Given the description of an element on the screen output the (x, y) to click on. 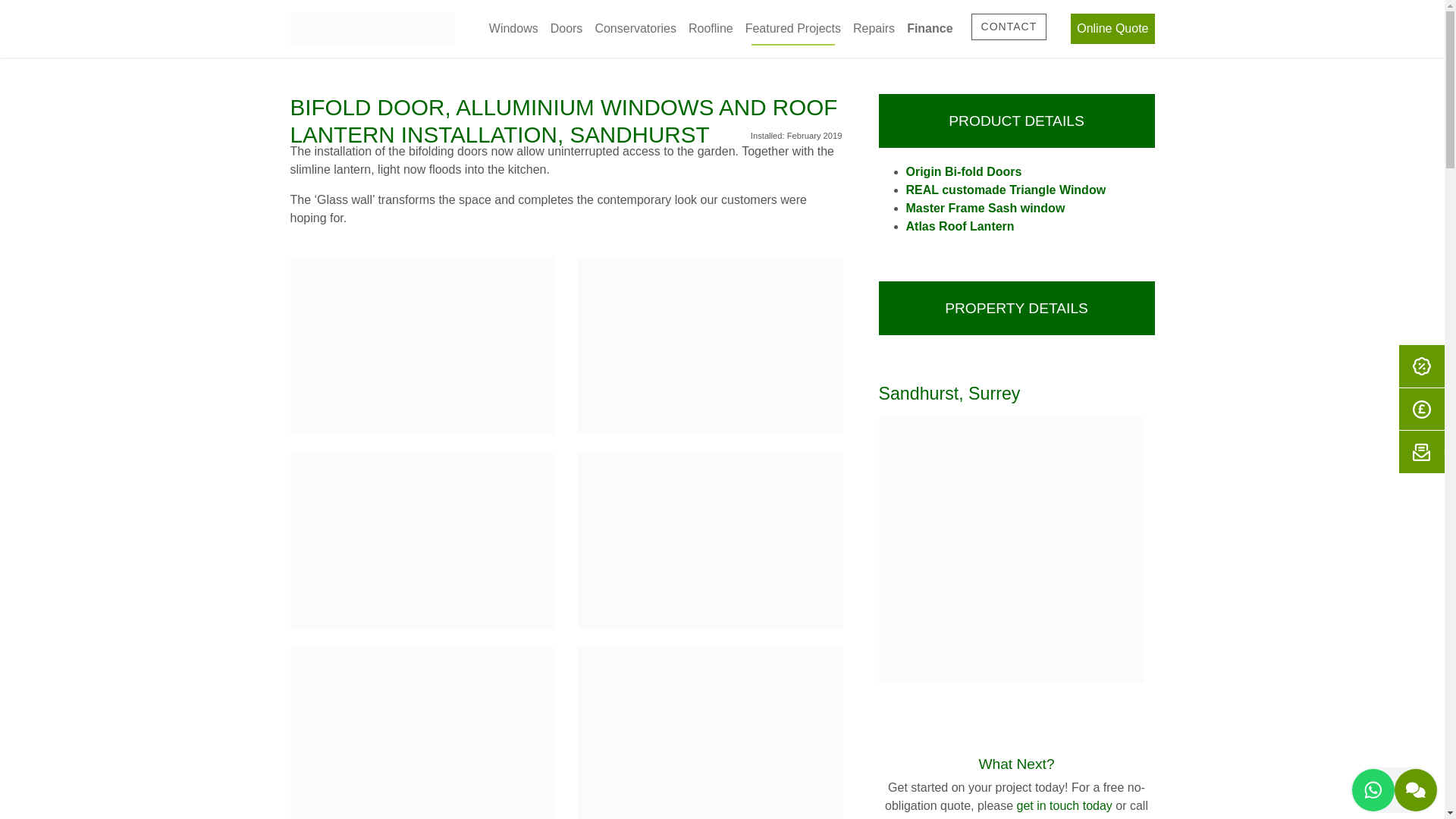
Windows (513, 28)
Conservatories (635, 28)
Doors (566, 28)
